Given the description of an element on the screen output the (x, y) to click on. 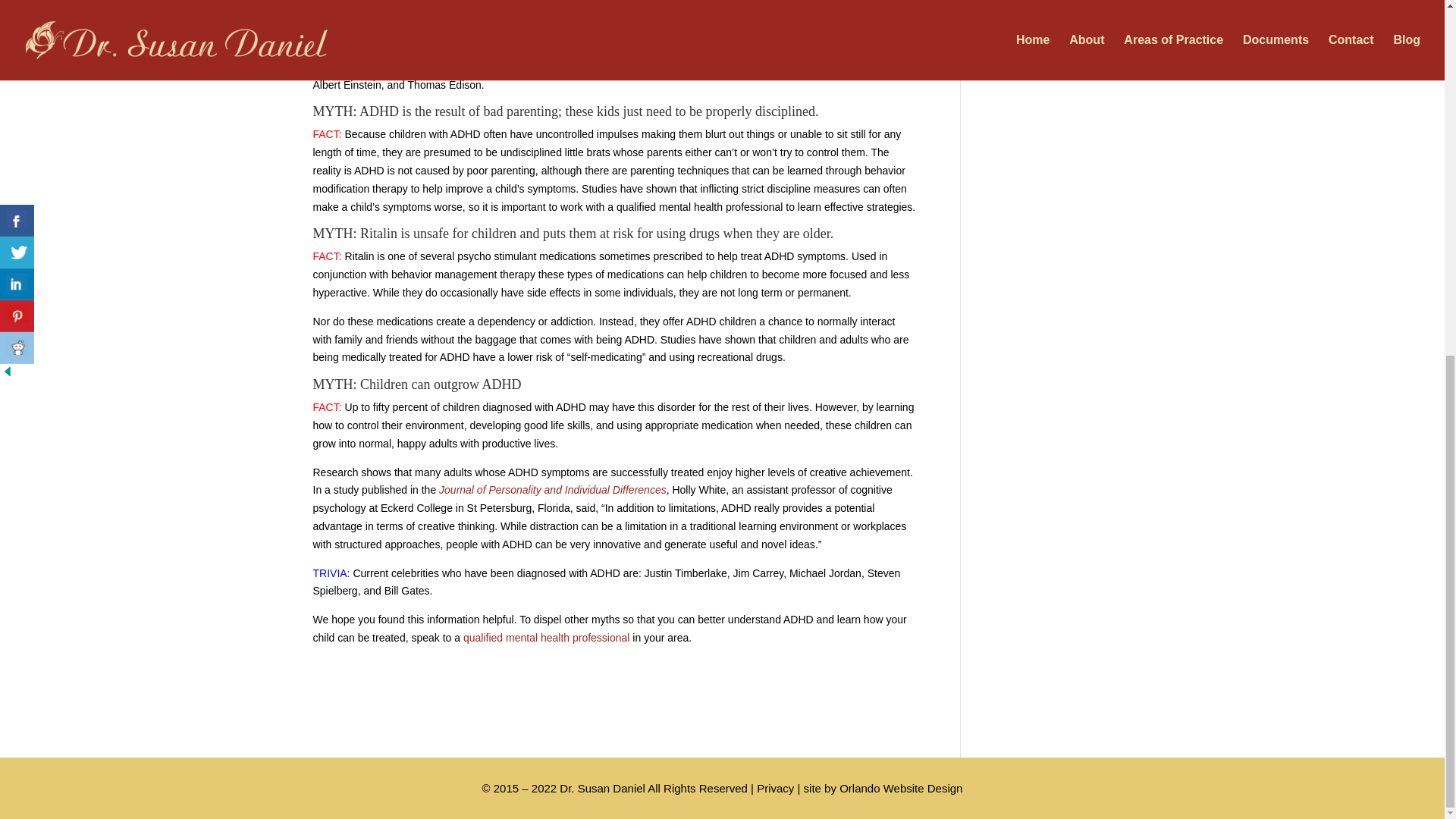
Privacy (775, 788)
qualified mental health professional (547, 637)
Individuals with Disabilities Education Act (566, 19)
Journal of Personality and Individual Differences (552, 490)
Orlando Website Design (901, 788)
Contact (547, 637)
